Given the description of an element on the screen output the (x, y) to click on. 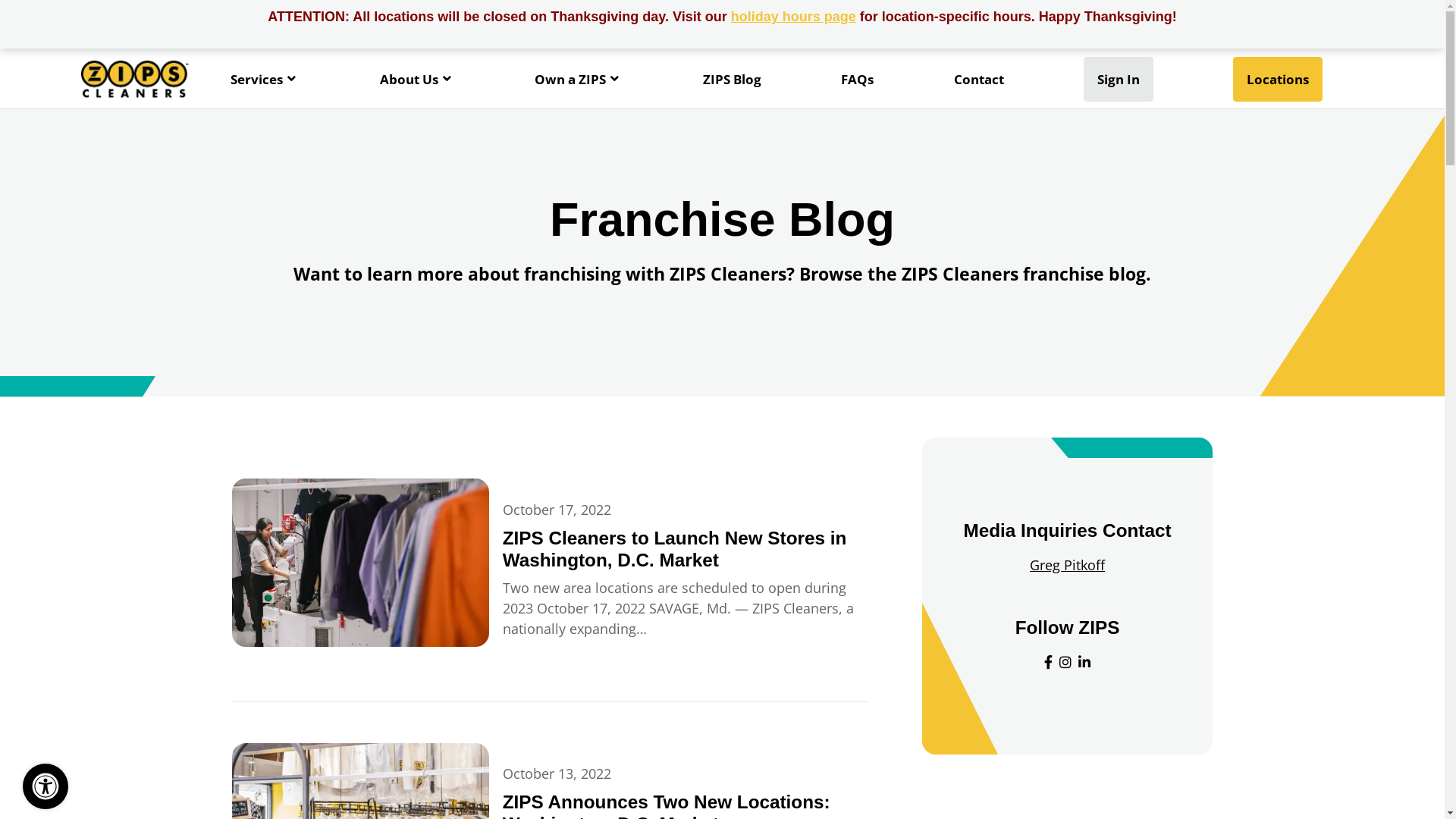
Greg Pitkoff Element type: text (1066, 564)
Own a ZIPS Element type: text (578, 78)
Sign In Element type: text (1118, 78)
Services Element type: text (264, 78)
holiday hours page Element type: text (793, 16)
PageAssist Element type: text (45, 786)
Visit Instagram Profile Element type: hover (1064, 661)
ZIPS Blog Element type: text (731, 78)
Locations Element type: text (1277, 78)
FAQs Element type: text (856, 78)
Visit LinkedIn Profile Element type: hover (1084, 661)
About Us Element type: text (417, 78)
Contact Element type: text (978, 78)
Visit Facebook Profile Element type: hover (1047, 661)
